Given the description of an element on the screen output the (x, y) to click on. 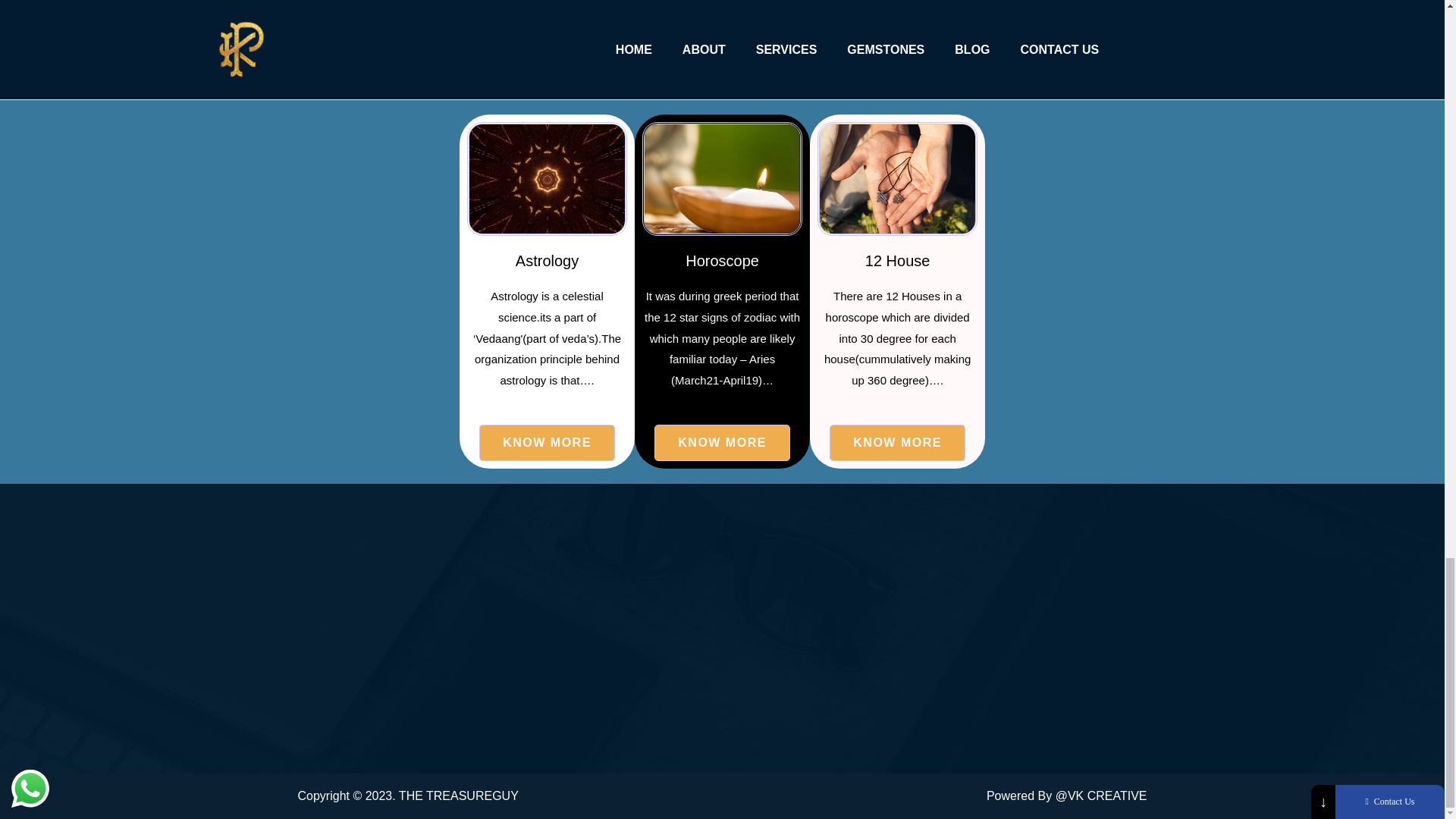
KNOW MORE (721, 443)
KNOW MORE (546, 443)
KNOW MORE (897, 443)
